Given the description of an element on the screen output the (x, y) to click on. 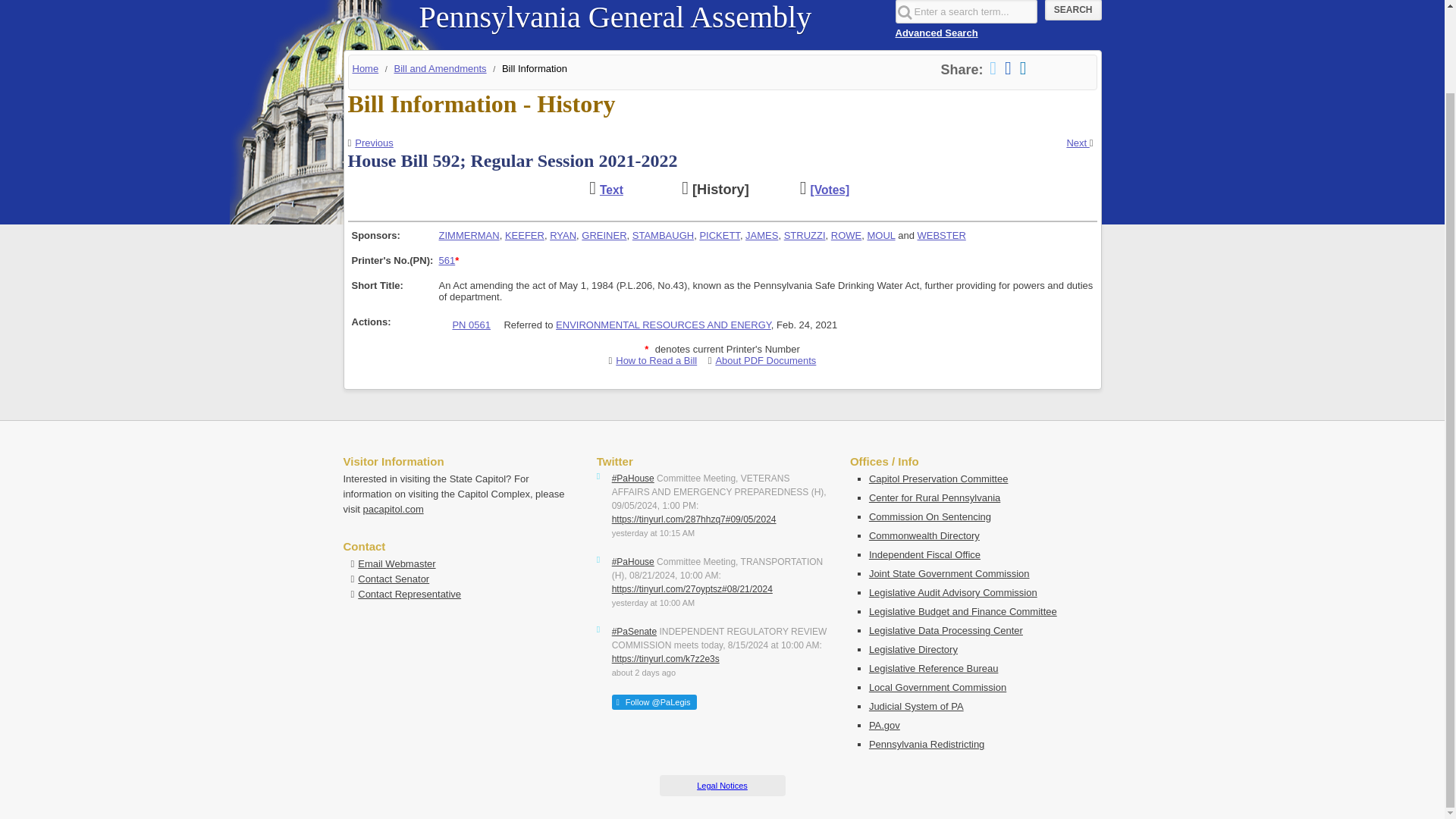
Search (1073, 10)
Search (1073, 10)
Pennsylvania General Assembly (614, 17)
Advanced Search (935, 32)
